Given the description of an element on the screen output the (x, y) to click on. 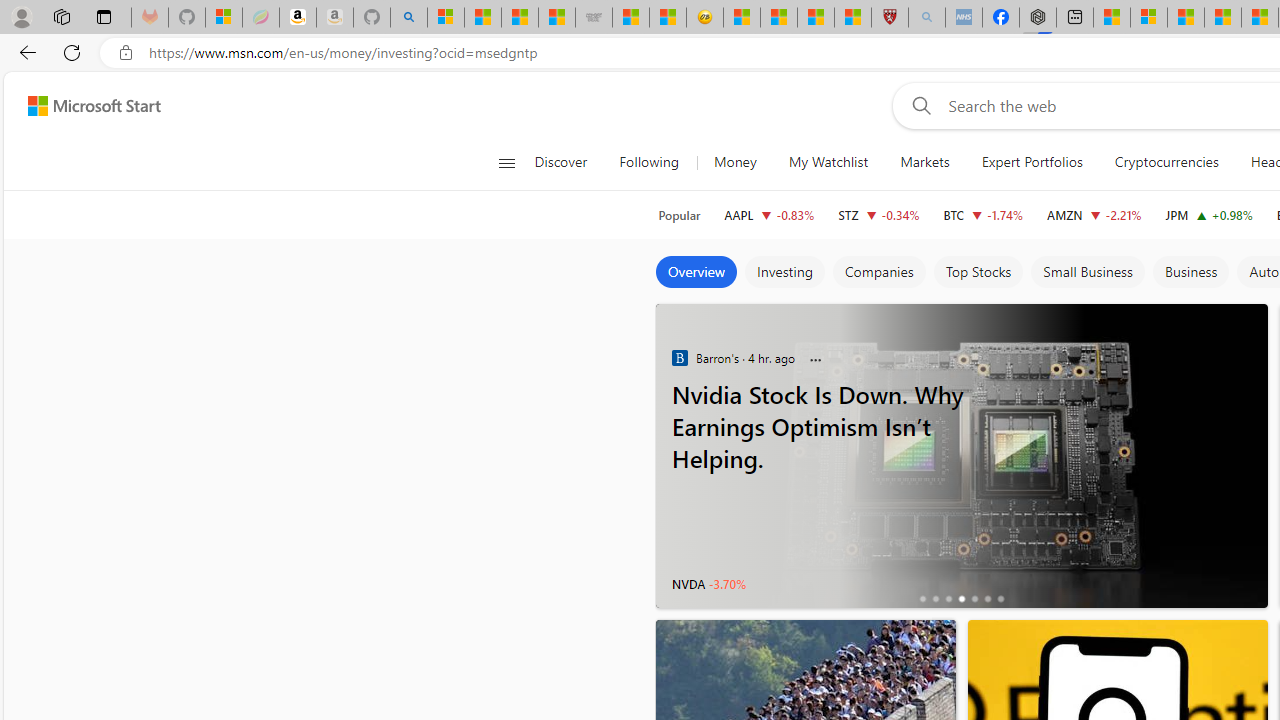
12 Popular Science Lies that Must be Corrected (852, 17)
Nordace - Nordace Siena Is Not An Ordinary Backpack (1037, 17)
Following (649, 162)
NCL Adult Asthma Inhaler Choice Guideline - Sleeping (963, 17)
Discover (568, 162)
NVDA -3.70% (708, 583)
Cryptocurrencies (1166, 162)
Expert Portfolios (1032, 162)
AAPL APPLE INC. decrease 224.53 -1.87 -0.83% (768, 214)
Barron's (679, 357)
Top Stocks (977, 272)
Science - MSN (815, 17)
Skip to content (86, 105)
Workspaces (61, 16)
